Given the description of an element on the screen output the (x, y) to click on. 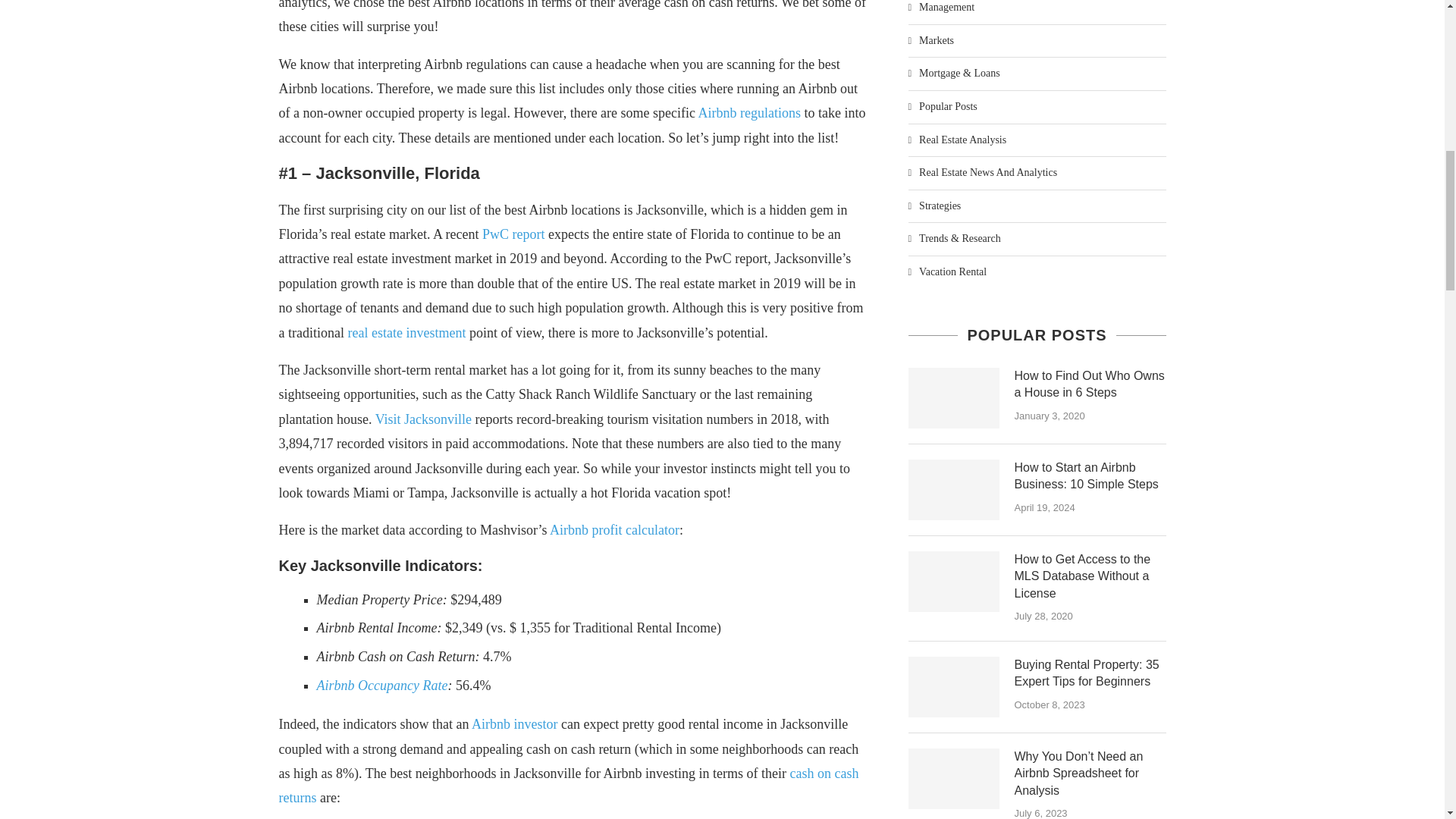
cash on cash returns (569, 785)
Visit Jacksonville (423, 418)
Airbnb regulations (749, 112)
PwC report (512, 233)
Airbnb profit calculator (614, 529)
Airbnb Occupancy Rate (382, 685)
Airbnb investor (514, 724)
real estate investment (406, 332)
